Given the description of an element on the screen output the (x, y) to click on. 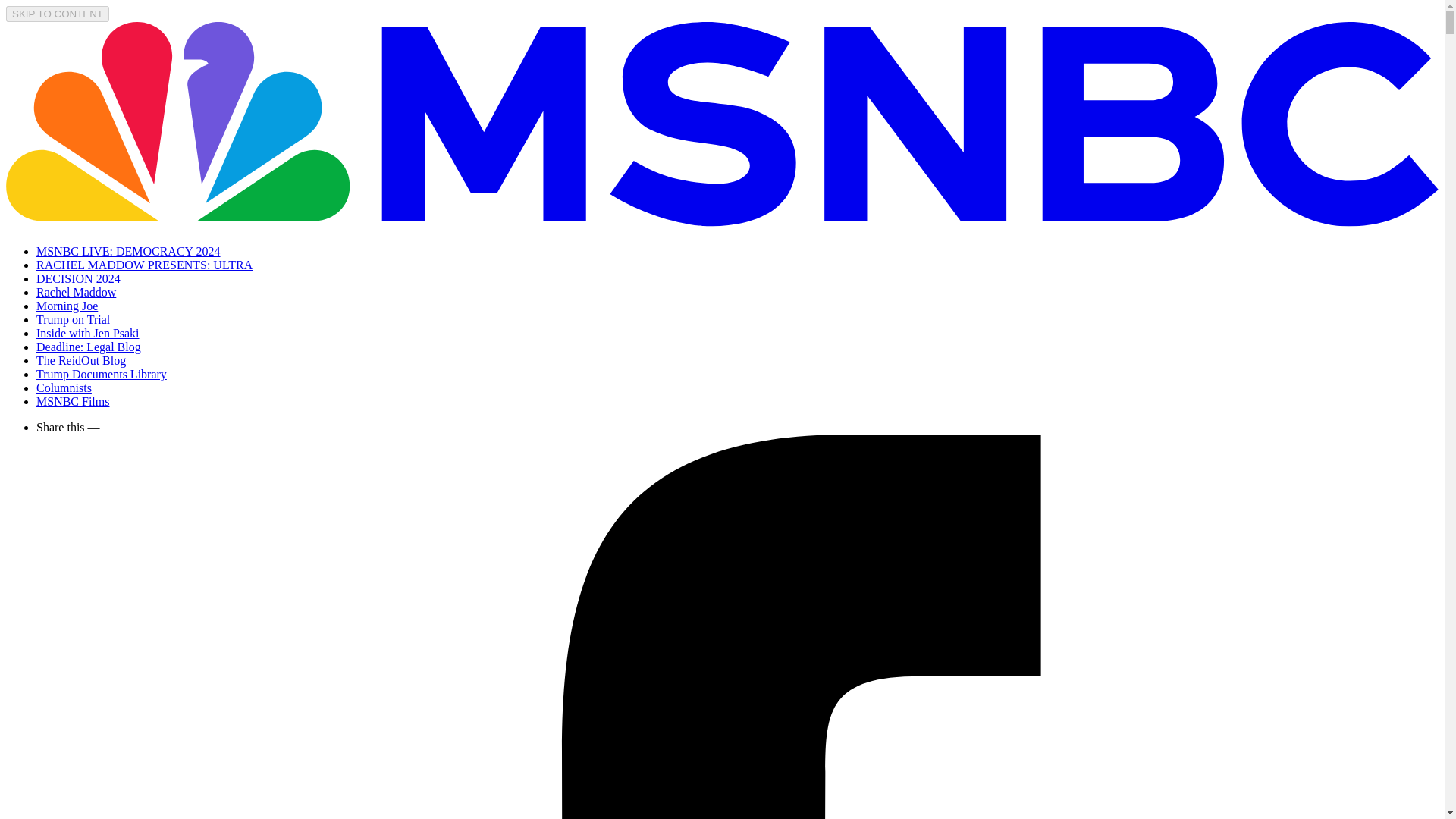
Trump on Trial (73, 318)
Inside with Jen Psaki (87, 332)
MSNBC Films (72, 400)
MSNBC LIVE: DEMOCRACY 2024 (128, 250)
Deadline: Legal Blog (88, 346)
Rachel Maddow (76, 291)
Morning Joe (66, 305)
SKIP TO CONTENT (57, 13)
RACHEL MADDOW PRESENTS: ULTRA (143, 264)
The ReidOut Blog (80, 359)
DECISION 2024 (78, 278)
Trump Documents Library (101, 373)
Columnists (63, 387)
